Given the description of an element on the screen output the (x, y) to click on. 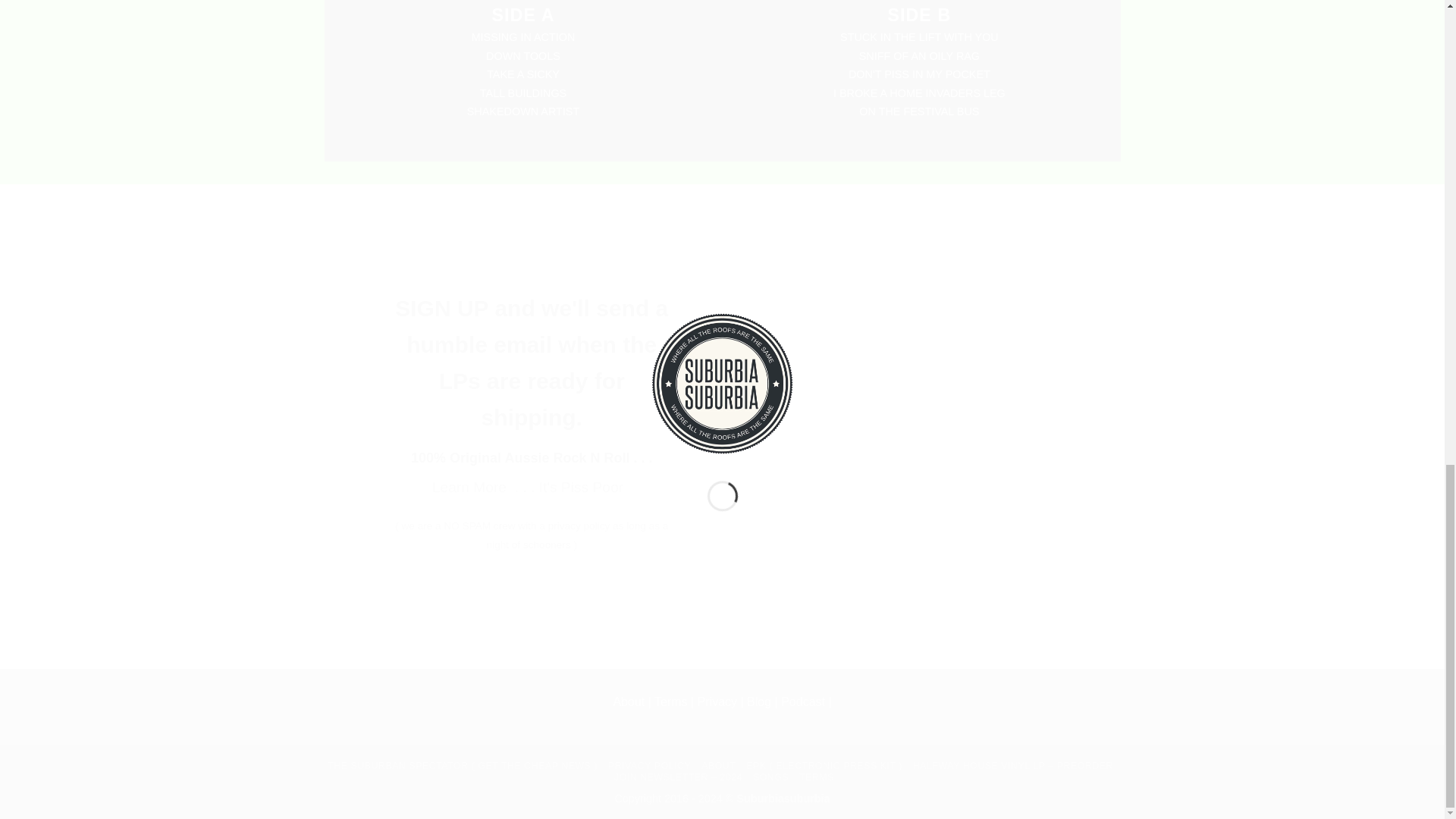
TERMS (816, 777)
ABOUT (718, 765)
About (628, 701)
SONGS (770, 777)
Terms (670, 701)
Podcast (802, 701)
Privacy (716, 701)
Blog (760, 701)
PRIVACY POLICY (649, 765)
